Given the description of an element on the screen output the (x, y) to click on. 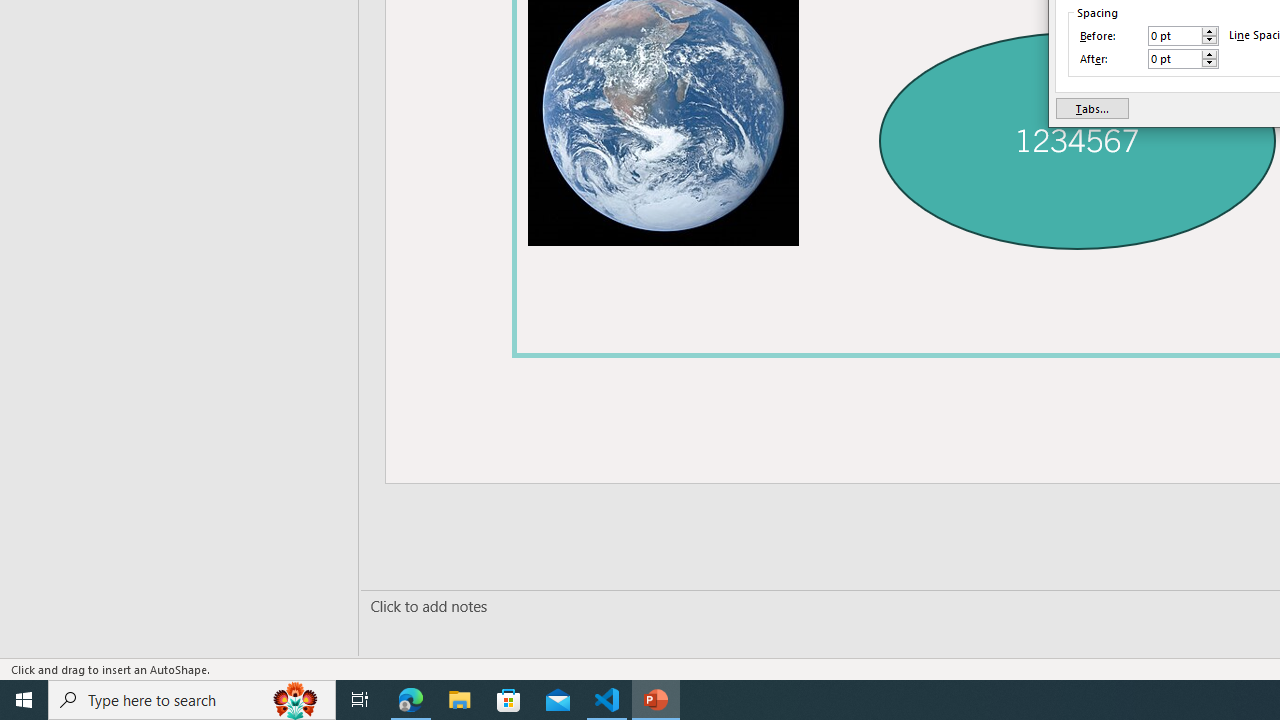
Before (1174, 35)
After (1174, 58)
Before (1183, 35)
Tabs... (1092, 108)
